Given the description of an element on the screen output the (x, y) to click on. 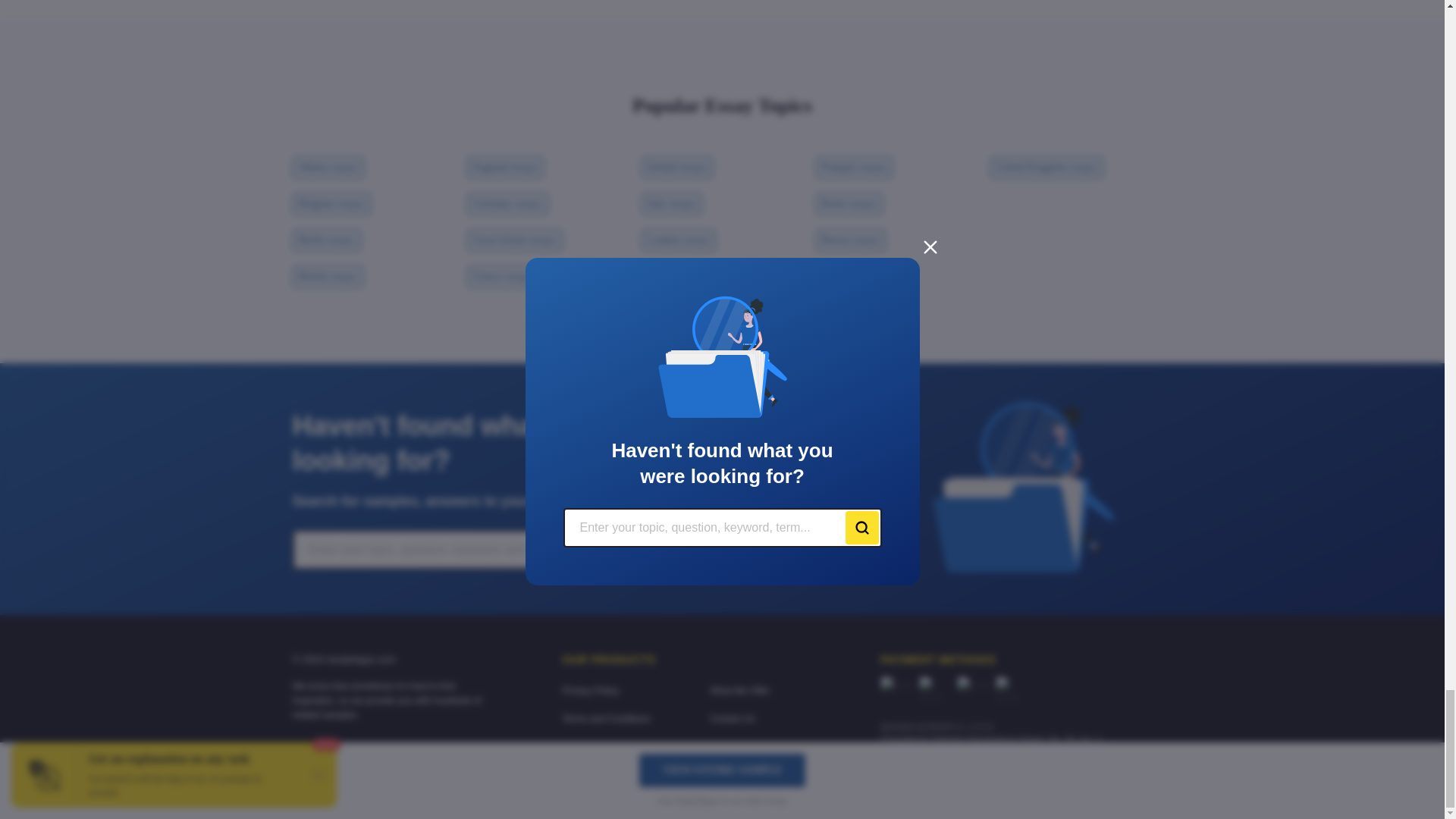
Belgium essays (331, 203)
England essays (505, 167)
Berlin essays (326, 240)
British essays (327, 276)
Athens essays (328, 167)
